Given the description of an element on the screen output the (x, y) to click on. 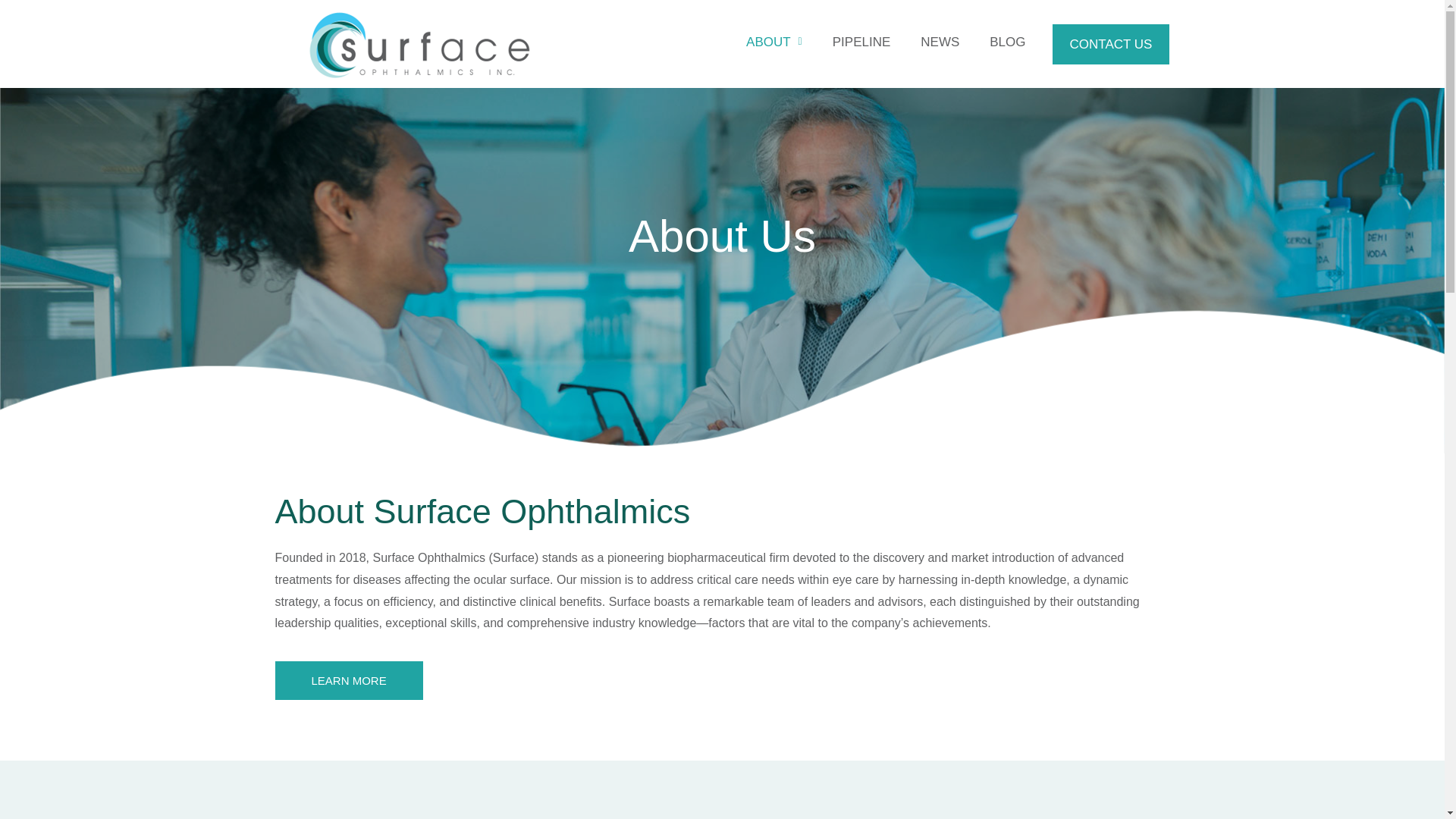
LEARN MORE (348, 680)
PIPELINE (860, 41)
CONTACT US (1111, 44)
BLOG (1007, 41)
NEWS (939, 41)
ABOUT (773, 41)
